Given the description of an element on the screen output the (x, y) to click on. 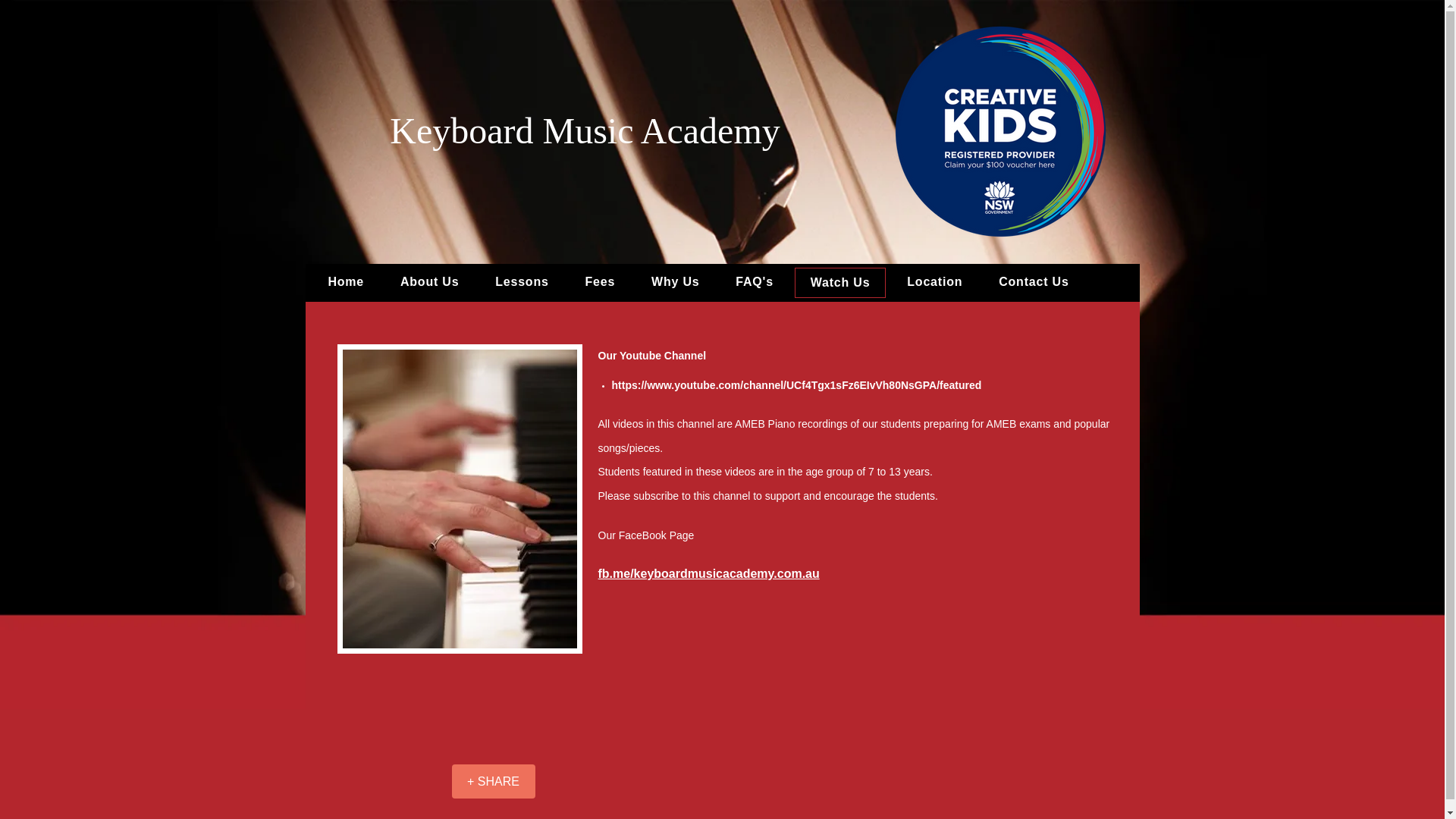
Facebook Like Element type: hover (399, 780)
Fees Element type: text (600, 281)
Why Us Element type: text (675, 281)
+ SHARE Element type: text (493, 781)
FAQ's Element type: text (753, 281)
Location Element type: text (934, 281)
Lessons Element type: text (521, 281)
fb.me/keyboardmusicacademy.com.au Element type: text (708, 573)
Contact Us Element type: text (1033, 281)
Watch Us Element type: text (840, 282)
About Us Element type: text (429, 281)
Home Element type: text (345, 281)
